Given the description of an element on the screen output the (x, y) to click on. 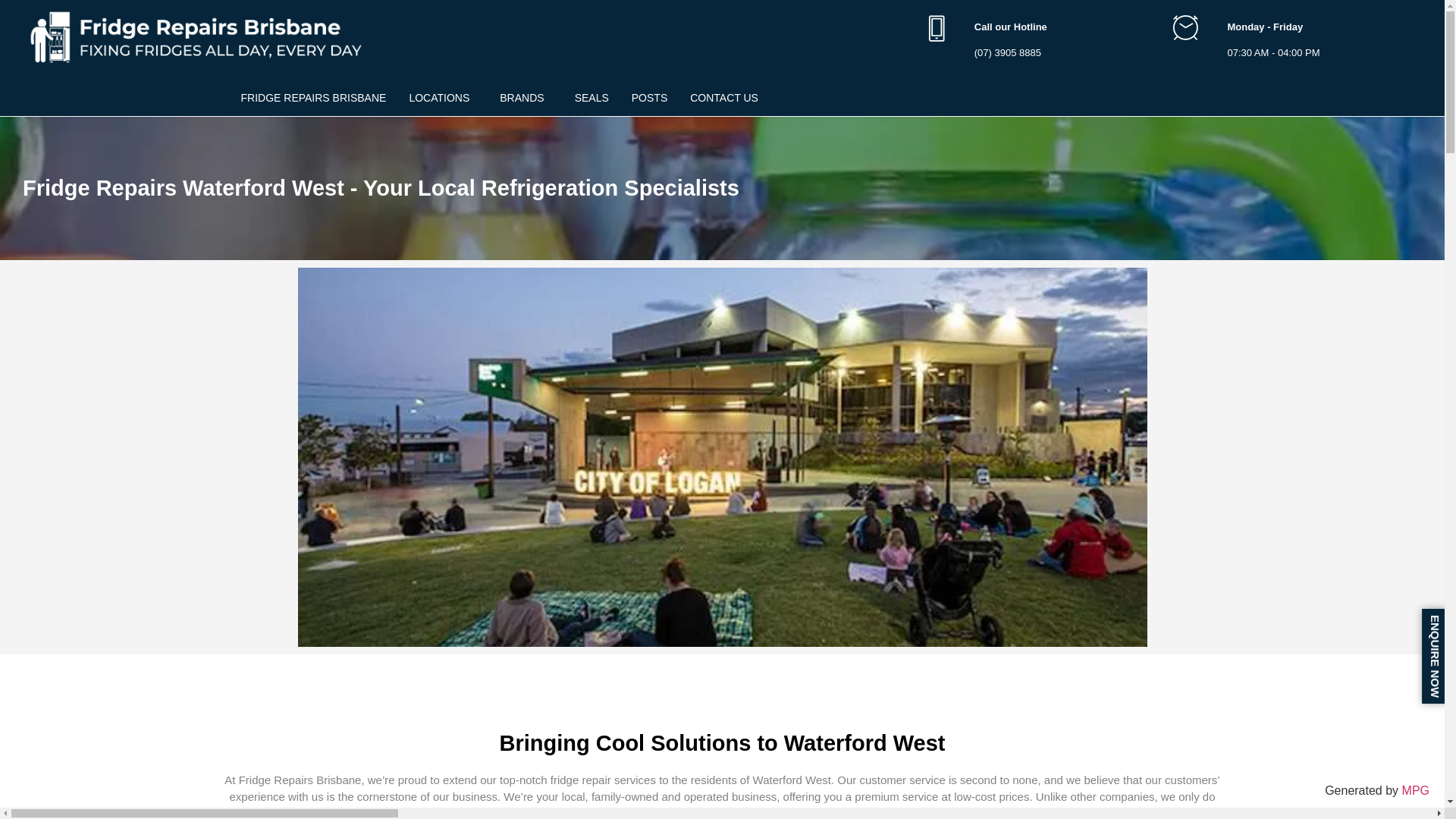
CONTACT US (724, 97)
POSTS (649, 97)
SEALS (591, 97)
BRANDS (524, 97)
FRIDGE REPAIRS BRISBANE (312, 97)
LOCATIONS (442, 97)
